Given the description of an element on the screen output the (x, y) to click on. 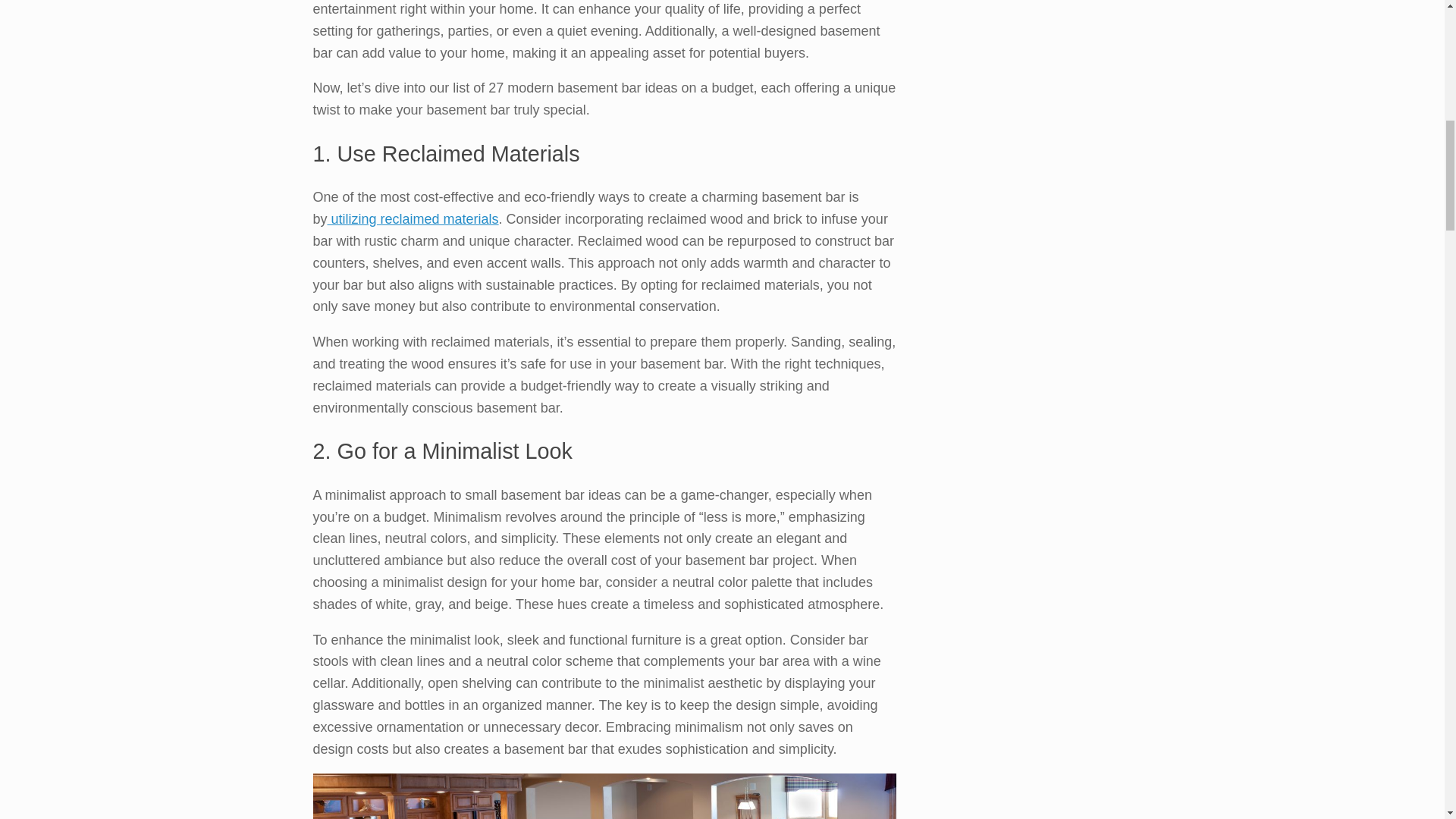
 utilizing reclaimed materials (413, 218)
